Given the description of an element on the screen output the (x, y) to click on. 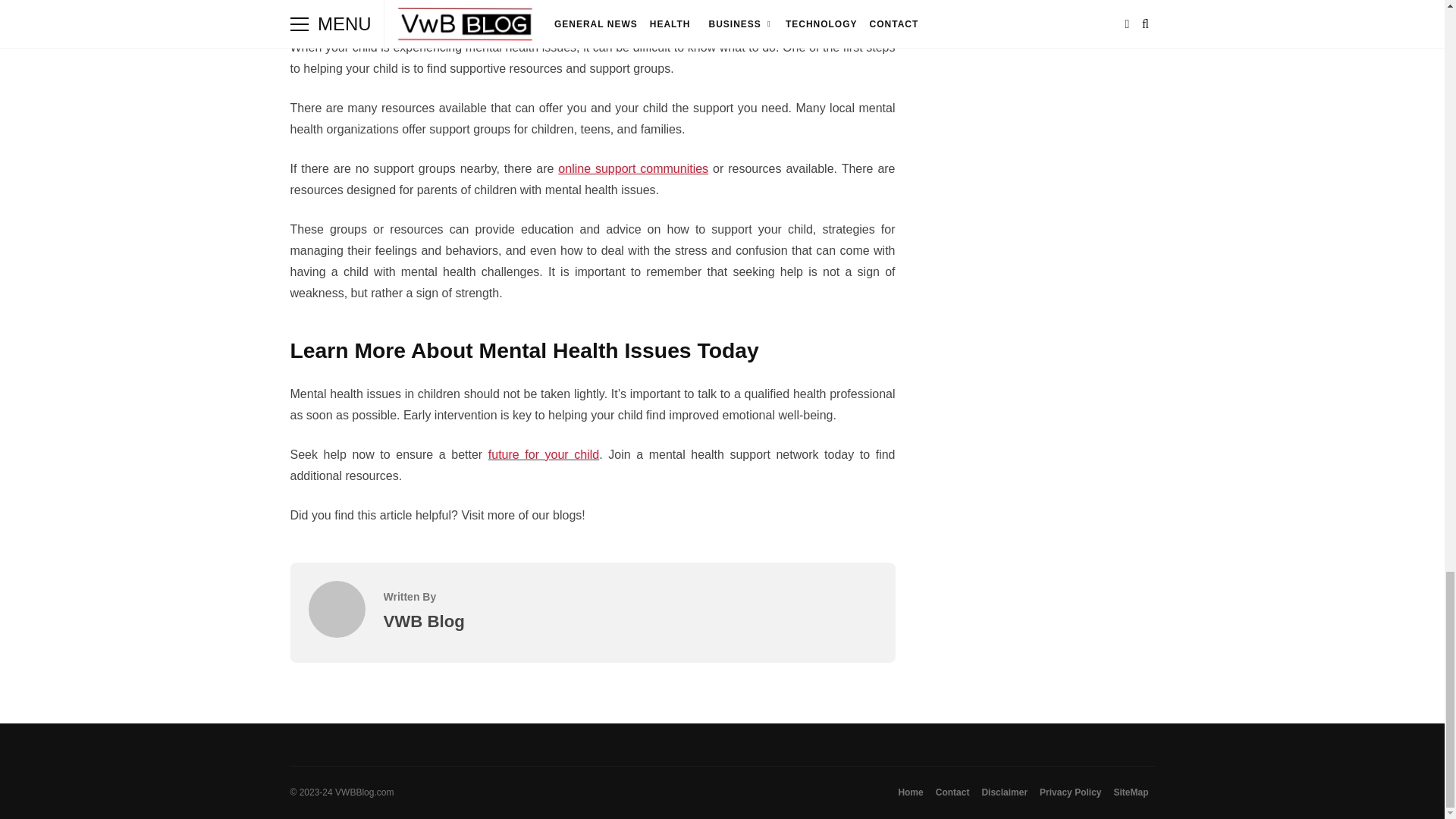
VWB Blog (336, 633)
Posts by VWB Blog (424, 620)
